Given the description of an element on the screen output the (x, y) to click on. 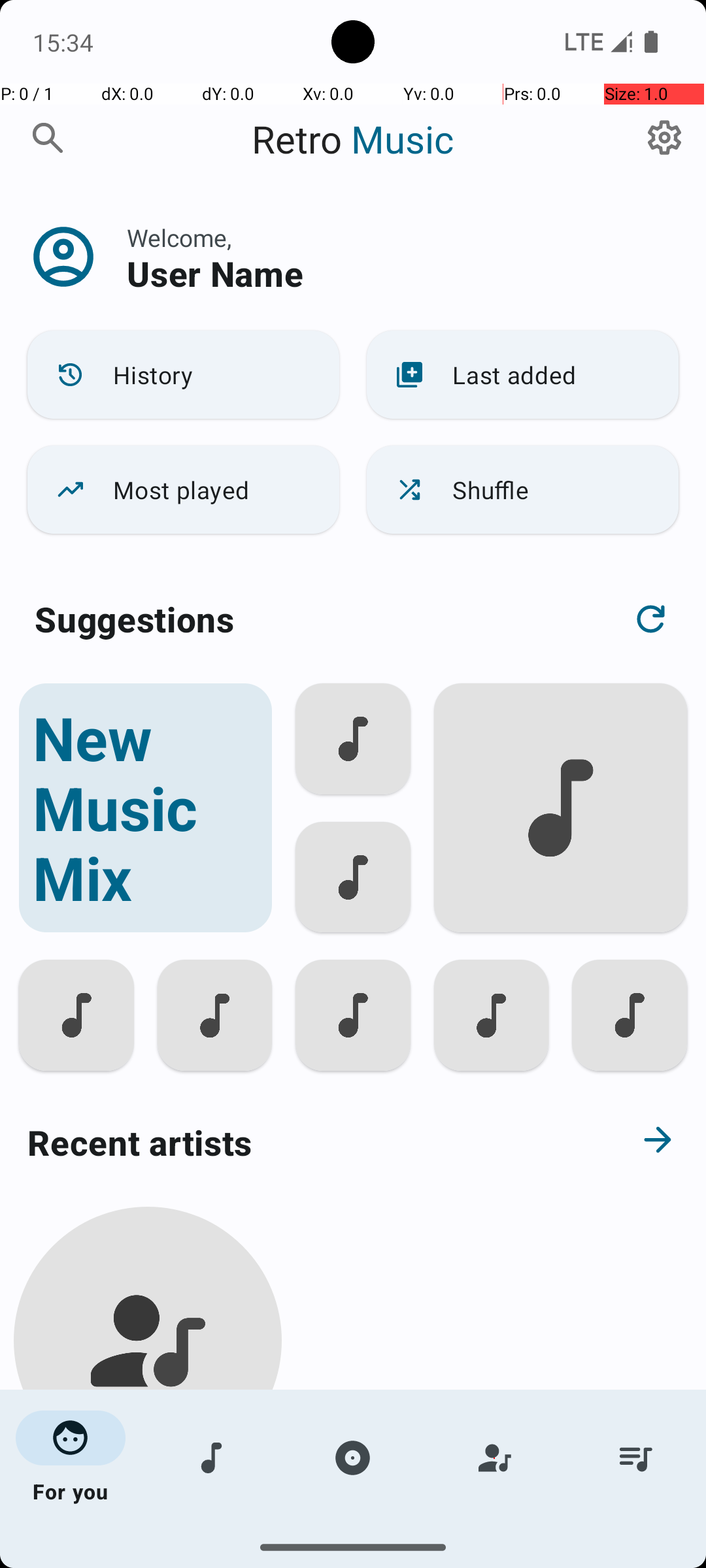
Retro Music Element type: android.widget.TextView (352, 138)
For you Element type: android.widget.FrameLayout (70, 1457)
Songs Element type: android.widget.FrameLayout (211, 1457)
Albums Element type: android.widget.FrameLayout (352, 1457)
Artists Element type: android.widget.FrameLayout (493, 1457)
Playlists Element type: android.widget.FrameLayout (635, 1457)
Welcome, Element type: android.widget.TextView (179, 237)
User Name Element type: android.widget.TextView (214, 273)
Last added Element type: android.widget.Button (522, 374)
Most played Element type: android.widget.Button (183, 489)
Shuffle Element type: android.widget.Button (522, 489)
Suggestions Element type: android.widget.TextView (134, 618)
New Music Mix Element type: android.widget.TextView (144, 807)
Recent artists Element type: android.widget.TextView (304, 1141)
Recent albums Element type: android.widget.TextView (304, 1557)
Martin Element type: android.widget.TextView (147, 1503)
